Given the description of an element on the screen output the (x, y) to click on. 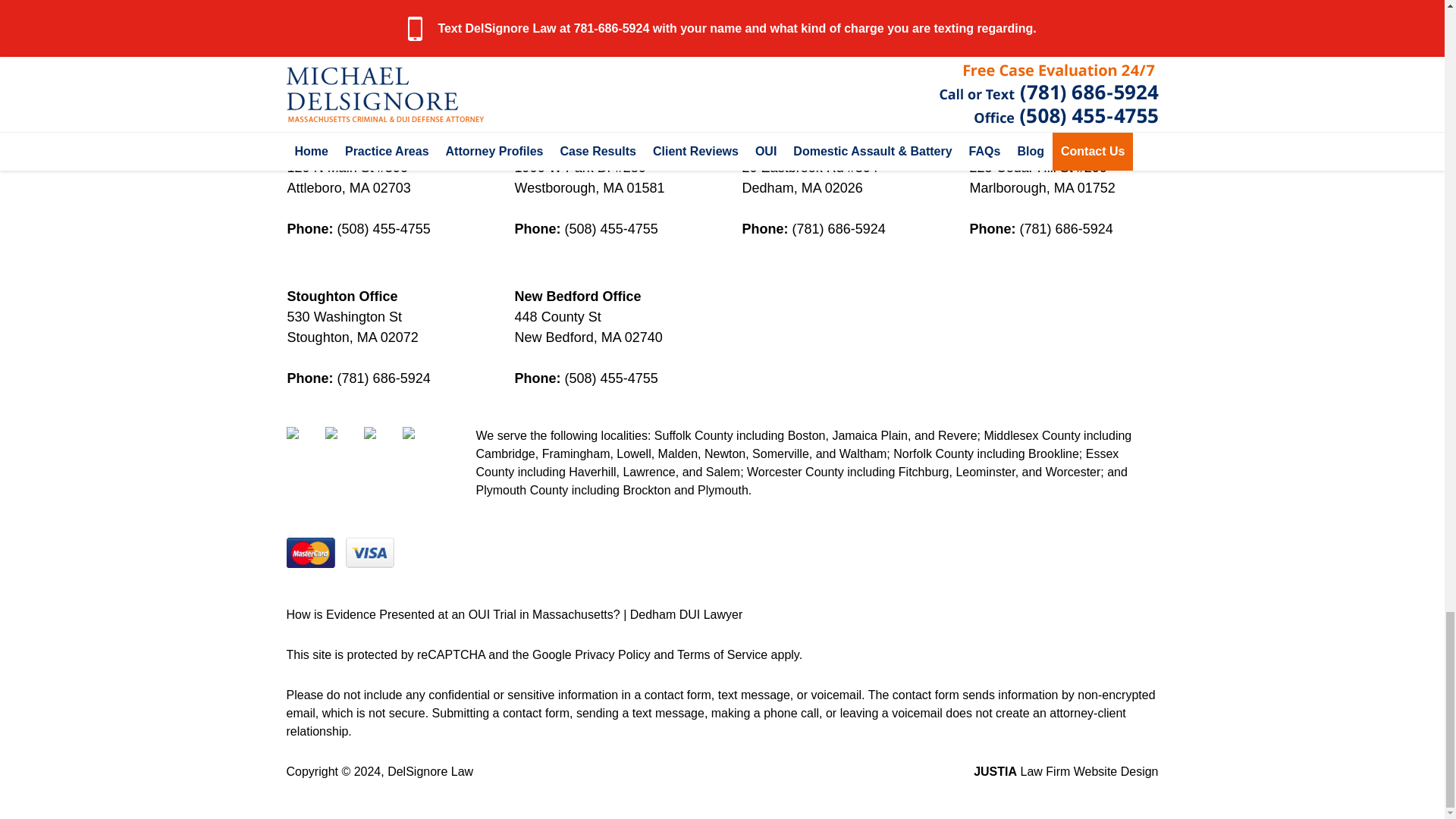
LinkedIn (381, 443)
Facebook (303, 443)
Twitter (341, 443)
Justia (420, 443)
